Given the description of an element on the screen output the (x, y) to click on. 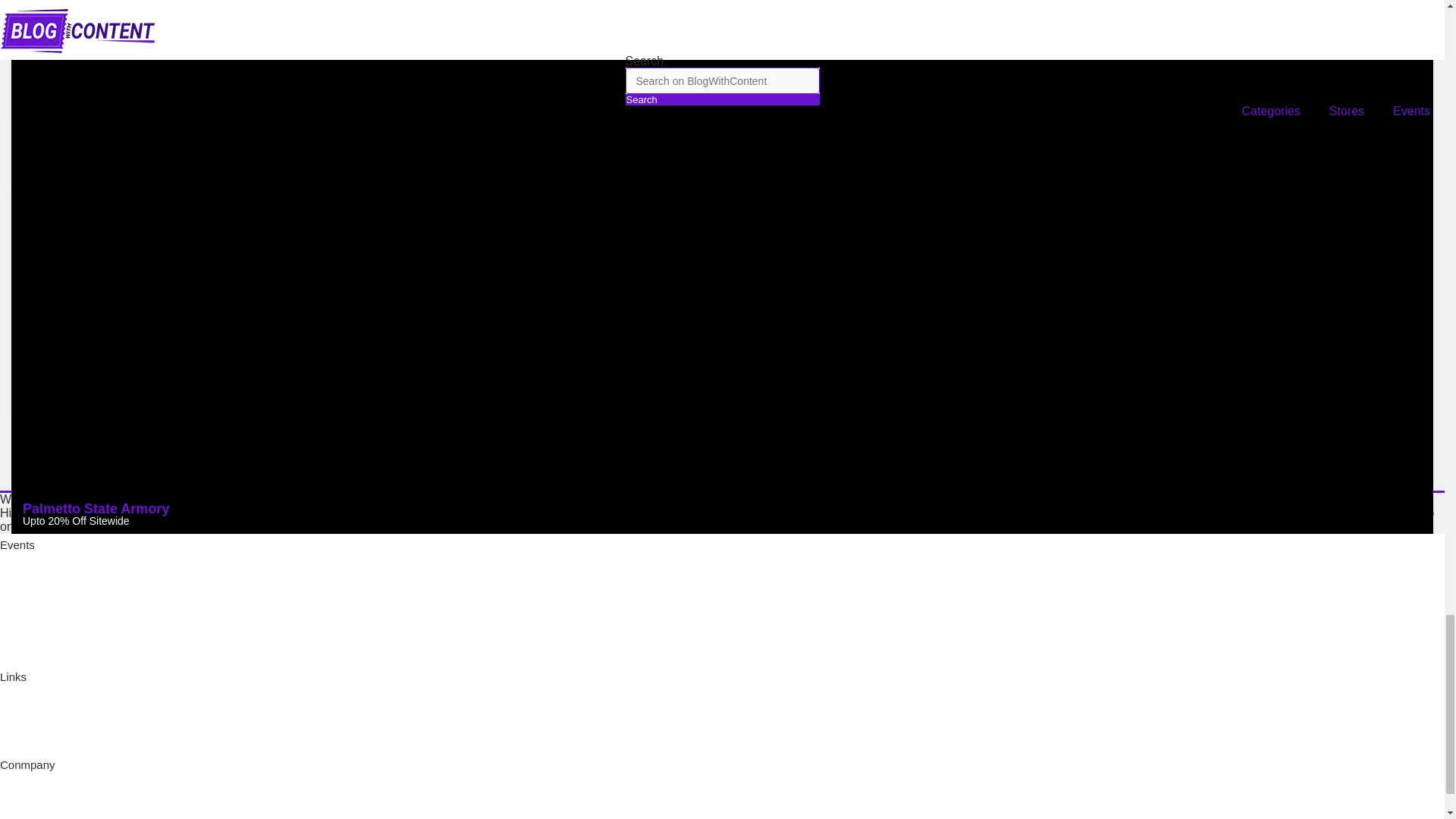
Cyber Monday (37, 588)
Browse Coupons (42, 632)
Black Friday (31, 566)
Reveal Code (721, 114)
Reveal Code (721, 354)
Christmas Sales (41, 610)
